Given the description of an element on the screen output the (x, y) to click on. 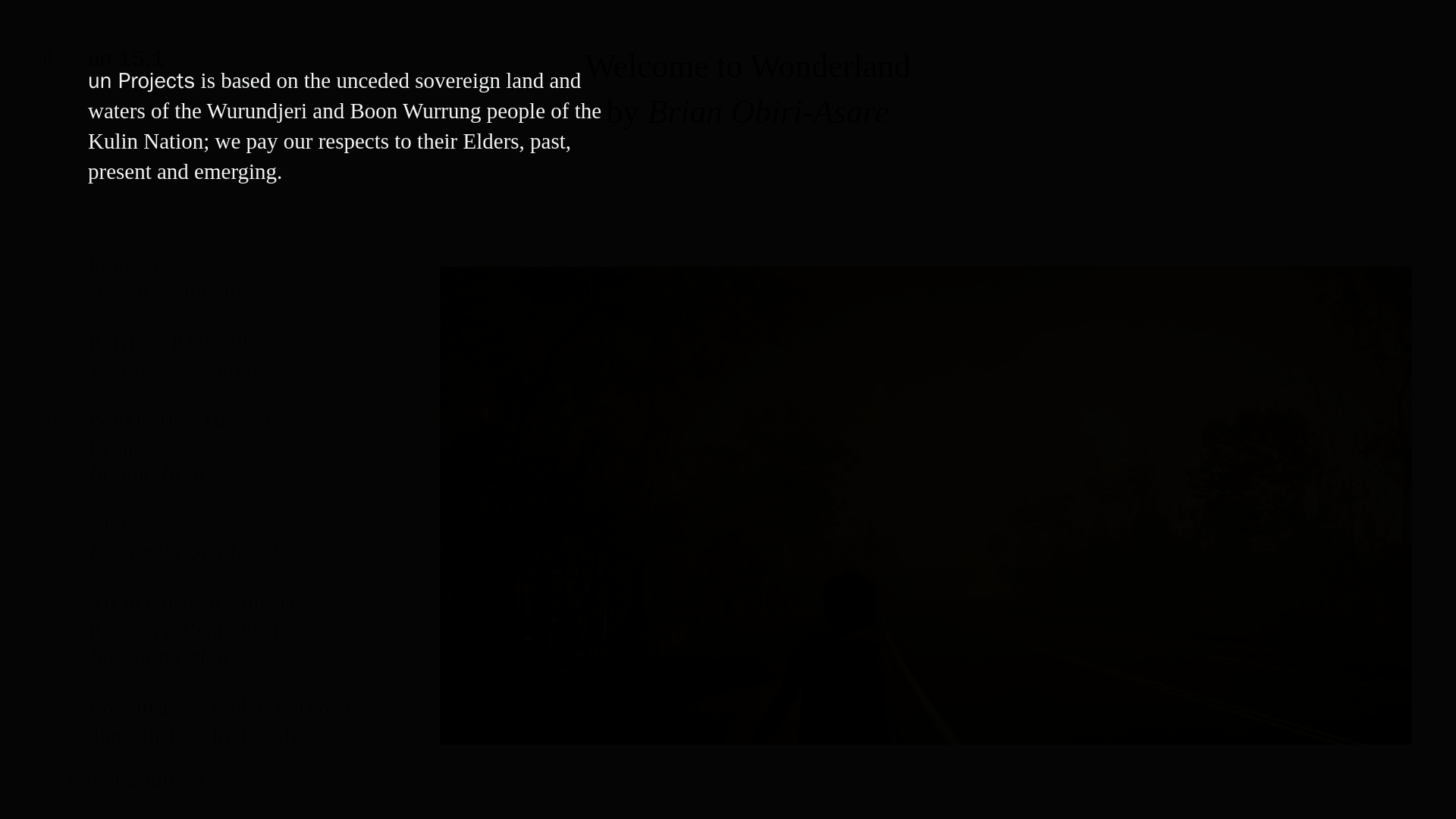
Posts by Brian Obiri-Asare (197, 549)
Brian Obiri-Asare (197, 458)
